Given the description of an element on the screen output the (x, y) to click on. 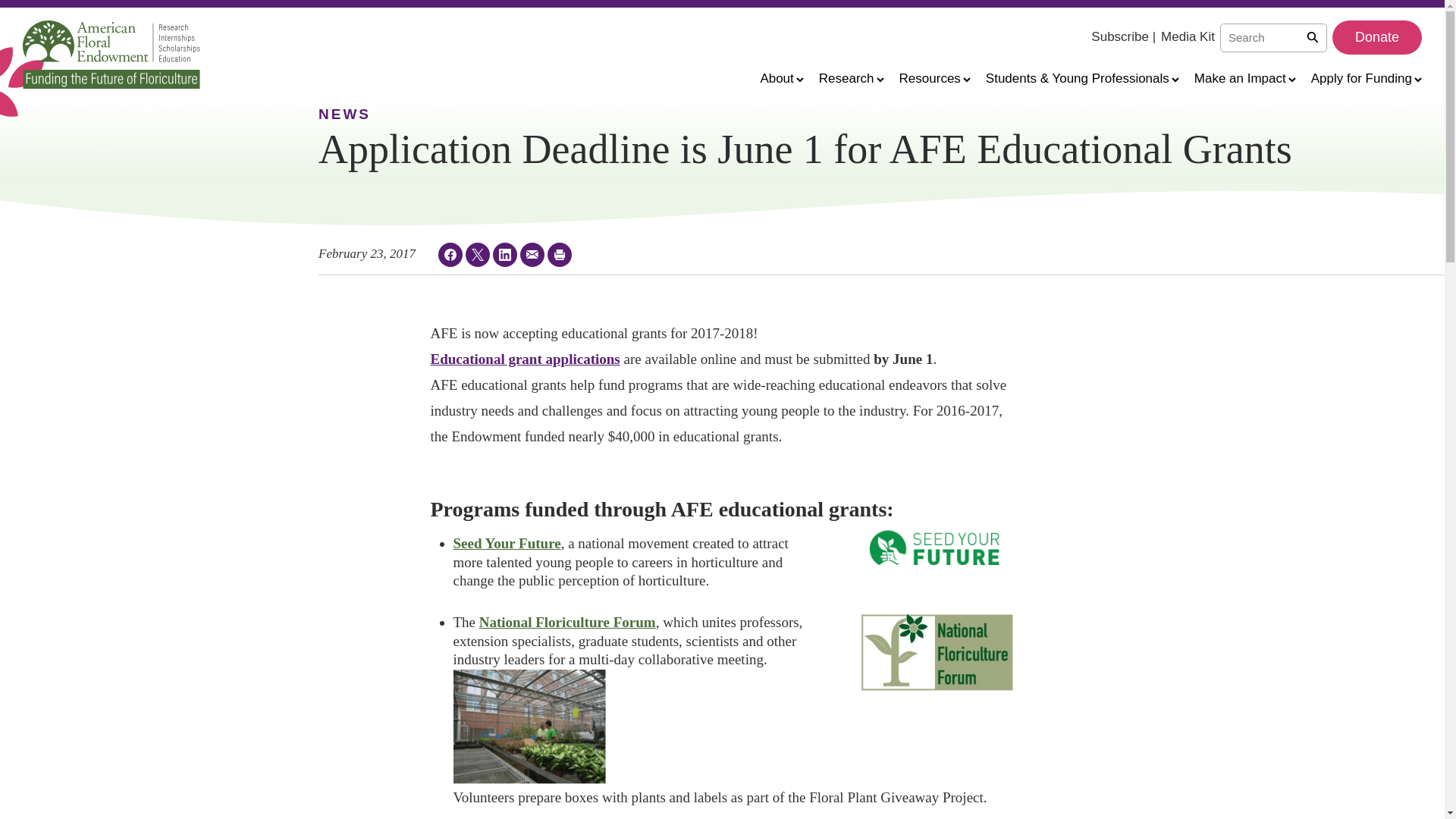
About (781, 77)
homepage (111, 54)
Resources (935, 77)
Research (850, 77)
Make an Impact (1244, 77)
